Given the description of an element on the screen output the (x, y) to click on. 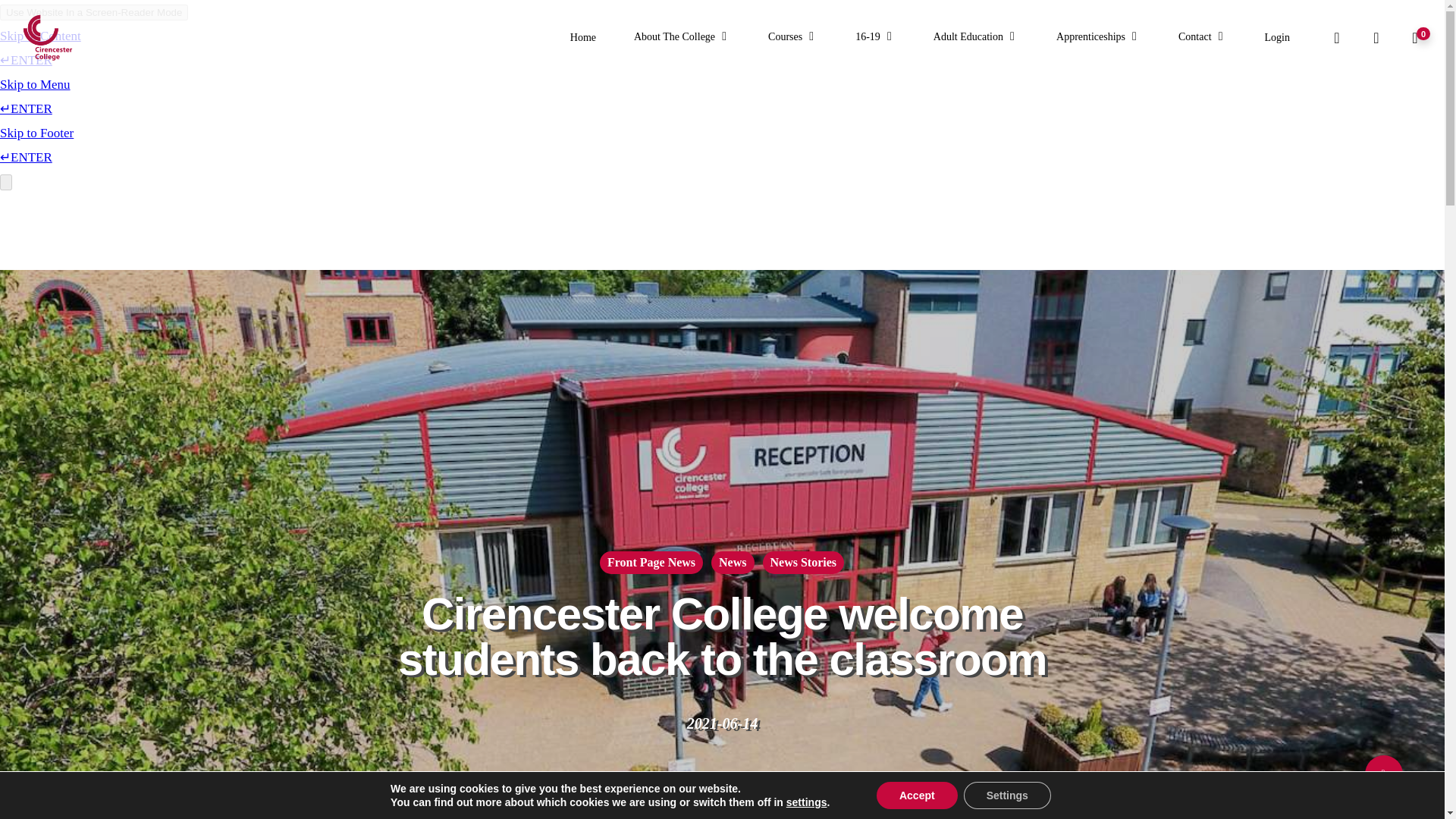
Home (582, 37)
About The College (681, 37)
Courses (792, 37)
